Given the description of an element on the screen output the (x, y) to click on. 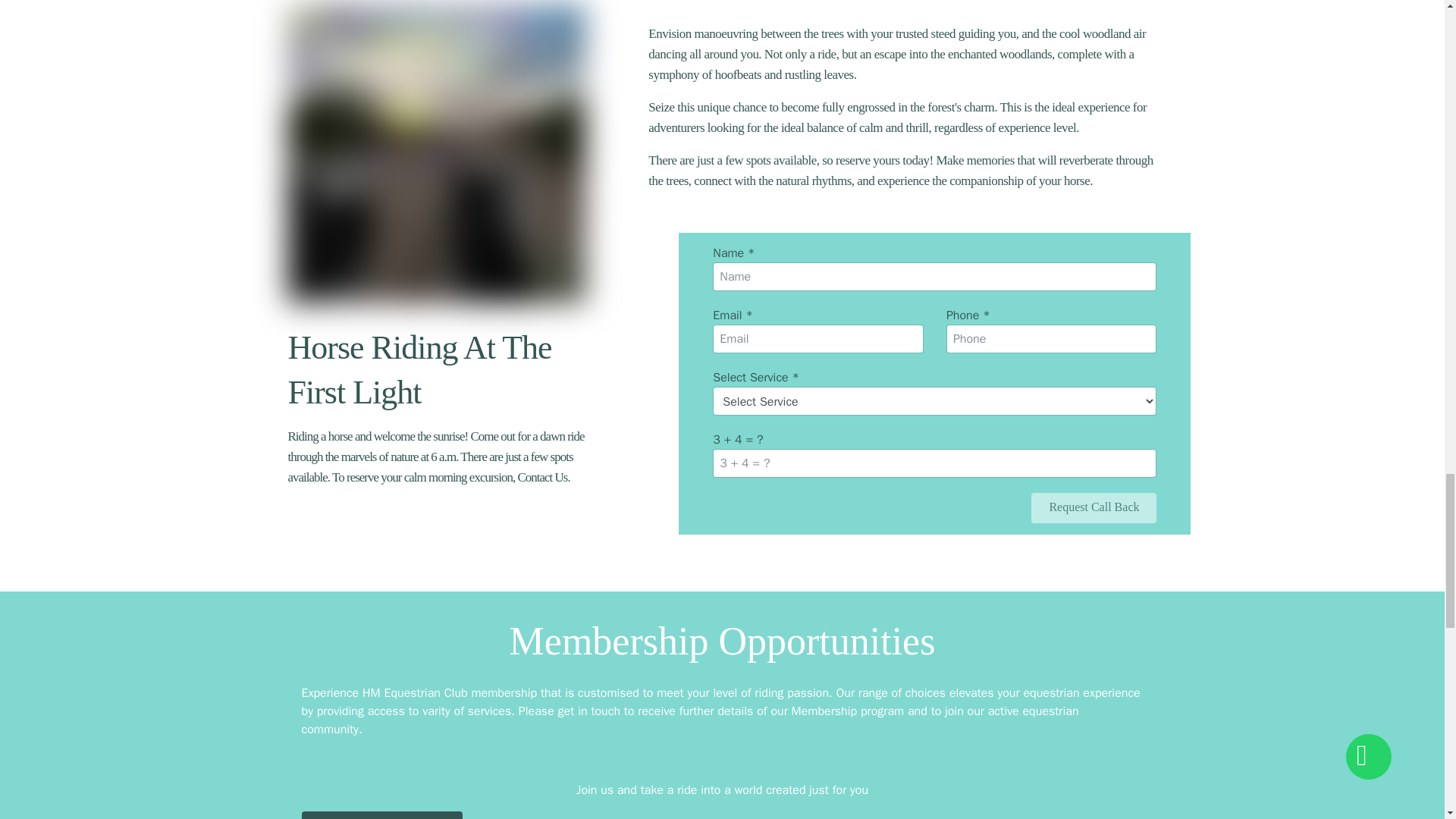
Learn More (382, 815)
Request Call Back (1093, 508)
